Given the description of an element on the screen output the (x, y) to click on. 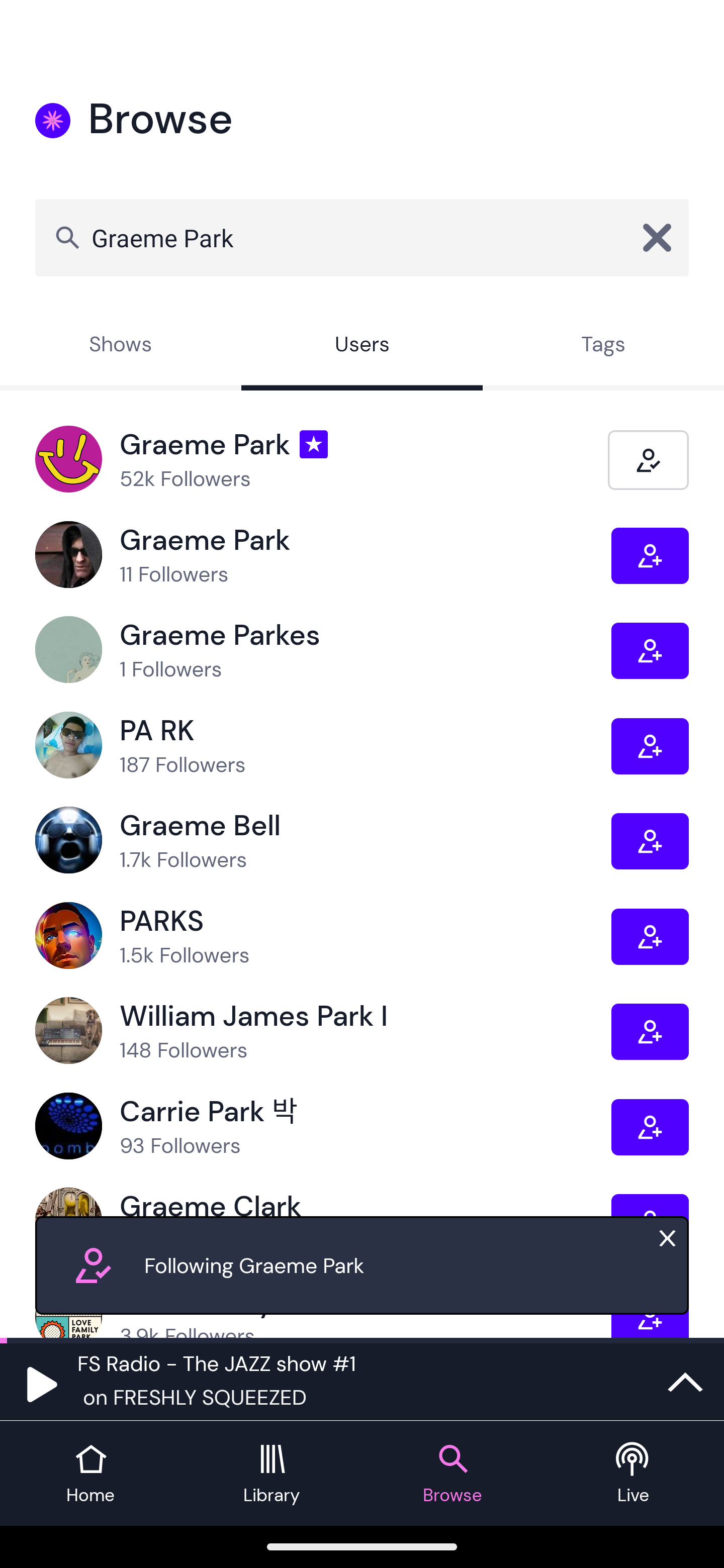
Graeme Park (361, 237)
Shows (120, 346)
Users (361, 346)
Tags (603, 346)
Following (648, 459)
Graeme Park, 11 Followers Graeme Park 11 Followers (323, 554)
Follow (649, 555)
Follow (649, 650)
PA RK, 187 Followers PA RK 187 Followers (323, 745)
Follow (649, 746)
Follow (649, 840)
PARKS, 1.5k Followers PARKS 1.5k Followers (323, 935)
Follow (649, 935)
Follow (649, 1031)
Follow (649, 1127)
Home tab Home (90, 1473)
Library tab Library (271, 1473)
Browse tab Browse (452, 1473)
Live tab Live (633, 1473)
